Given the description of an element on the screen output the (x, y) to click on. 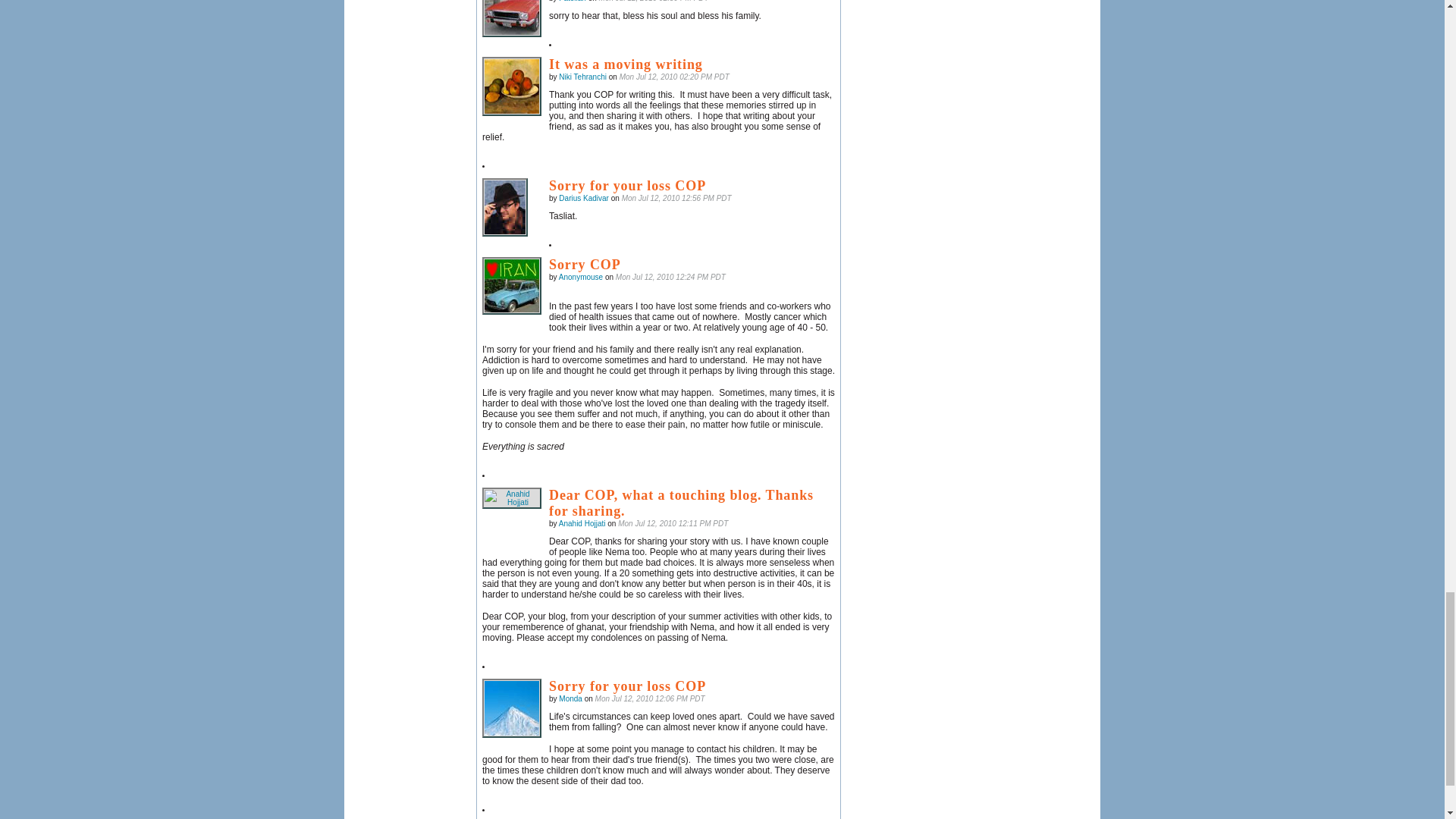
Niki Tehranchi (511, 86)
View user profile. (572, 1)
Fatollah (511, 18)
